Given the description of an element on the screen output the (x, y) to click on. 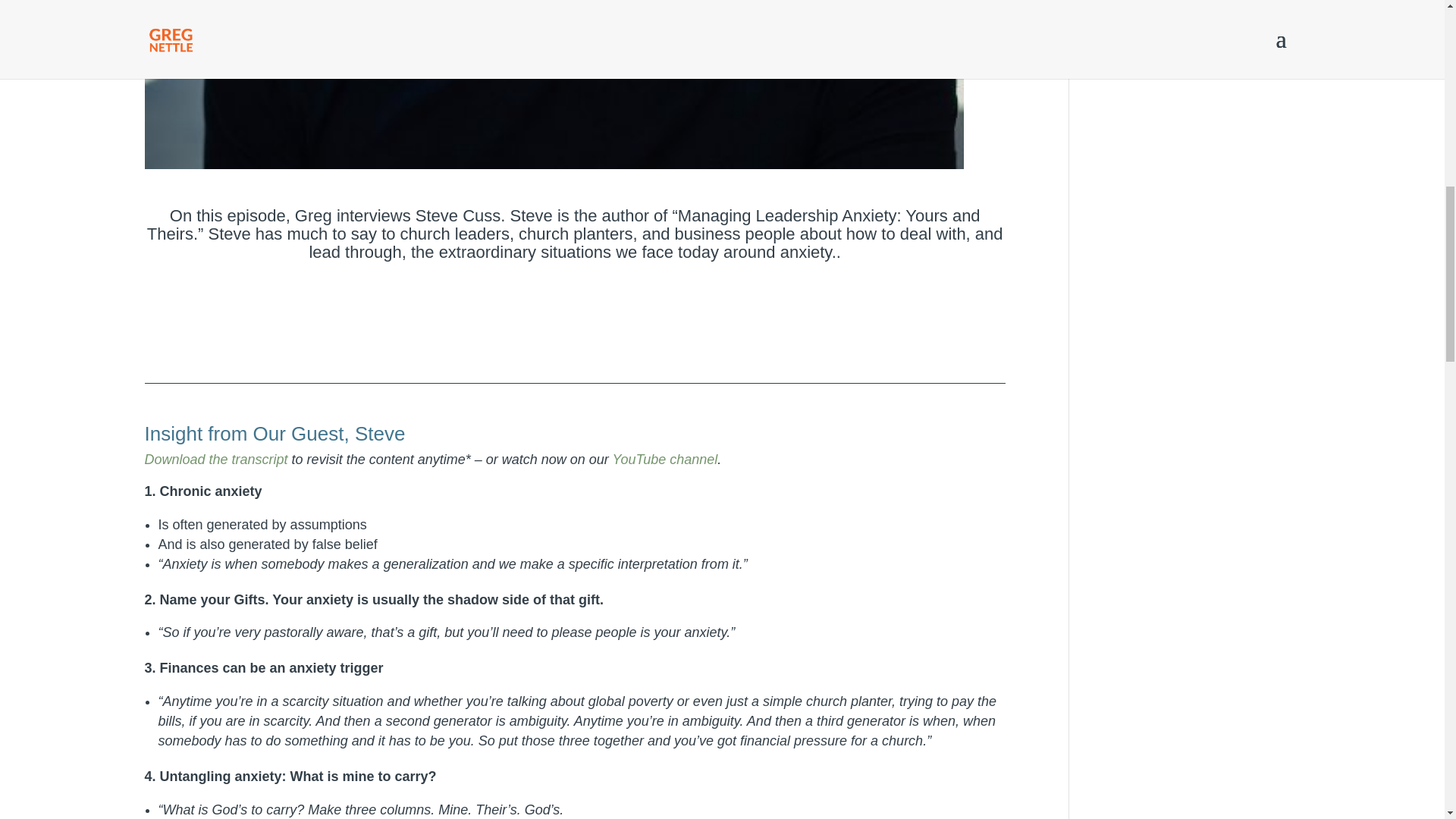
Download the transcript (215, 459)
Libsyn Player (574, 318)
YouTube channel (664, 459)
